Given the description of an element on the screen output the (x, y) to click on. 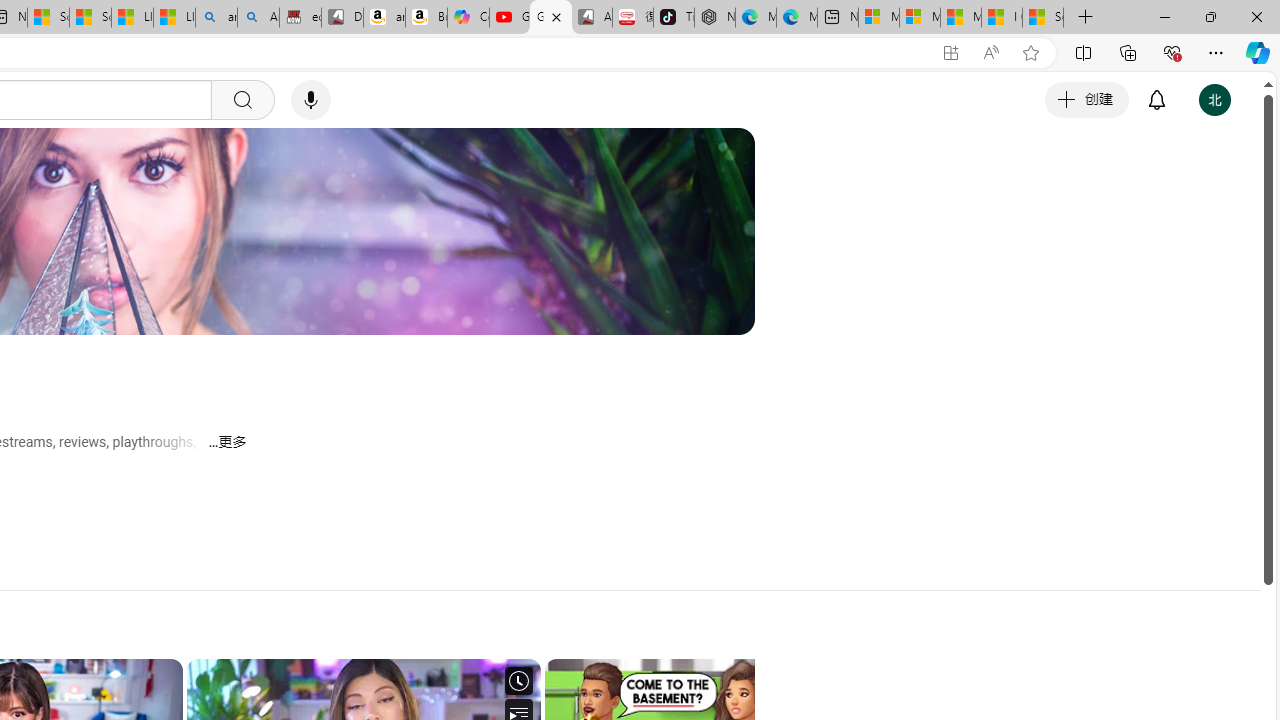
Gloom - YouTube (550, 17)
Nordace - Best Sellers (714, 17)
